Given the description of an element on the screen output the (x, y) to click on. 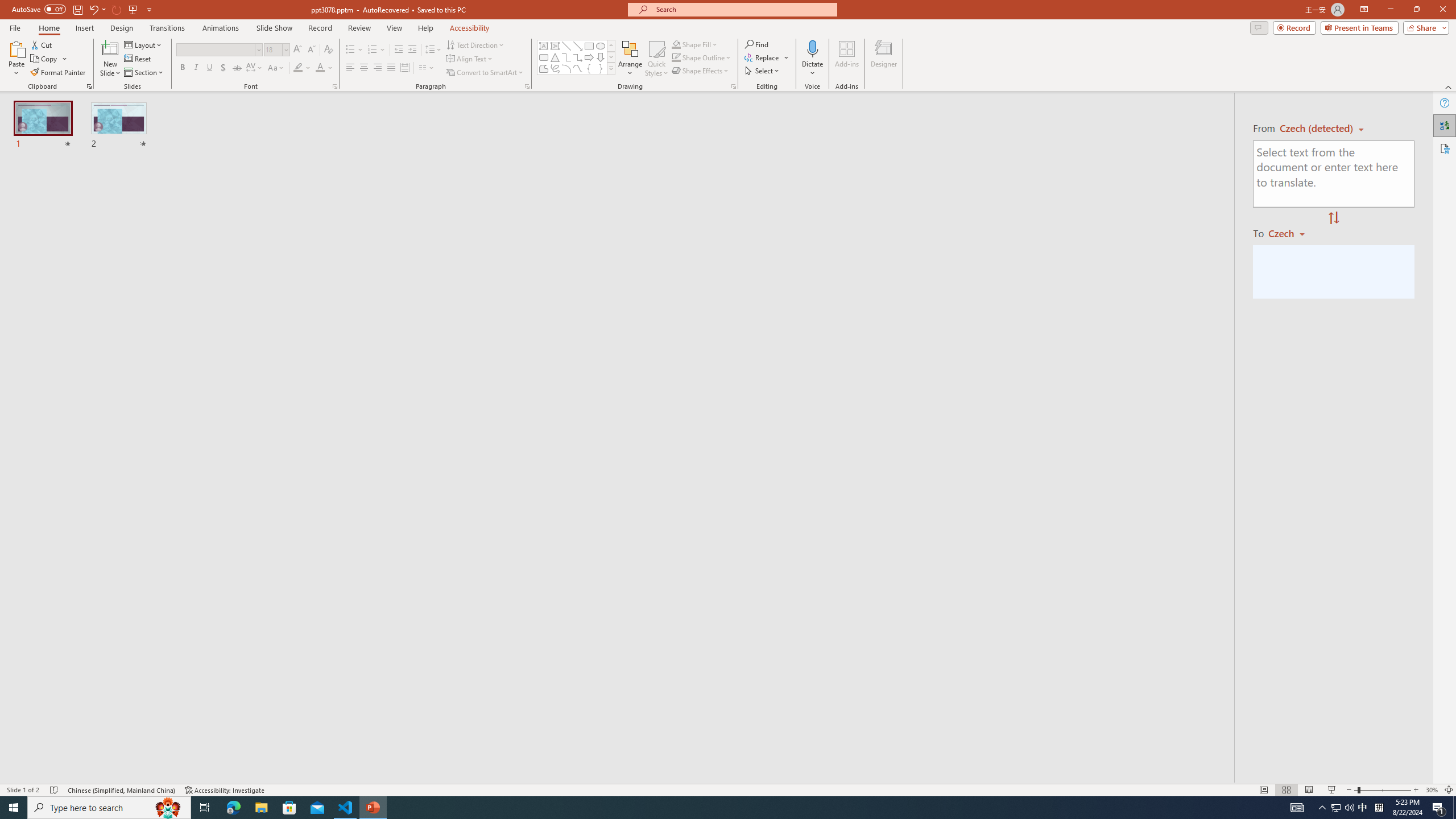
Shape Fill Dark Green, Accent 2 (675, 44)
Zoom 30% (1431, 790)
